Given the description of an element on the screen output the (x, y) to click on. 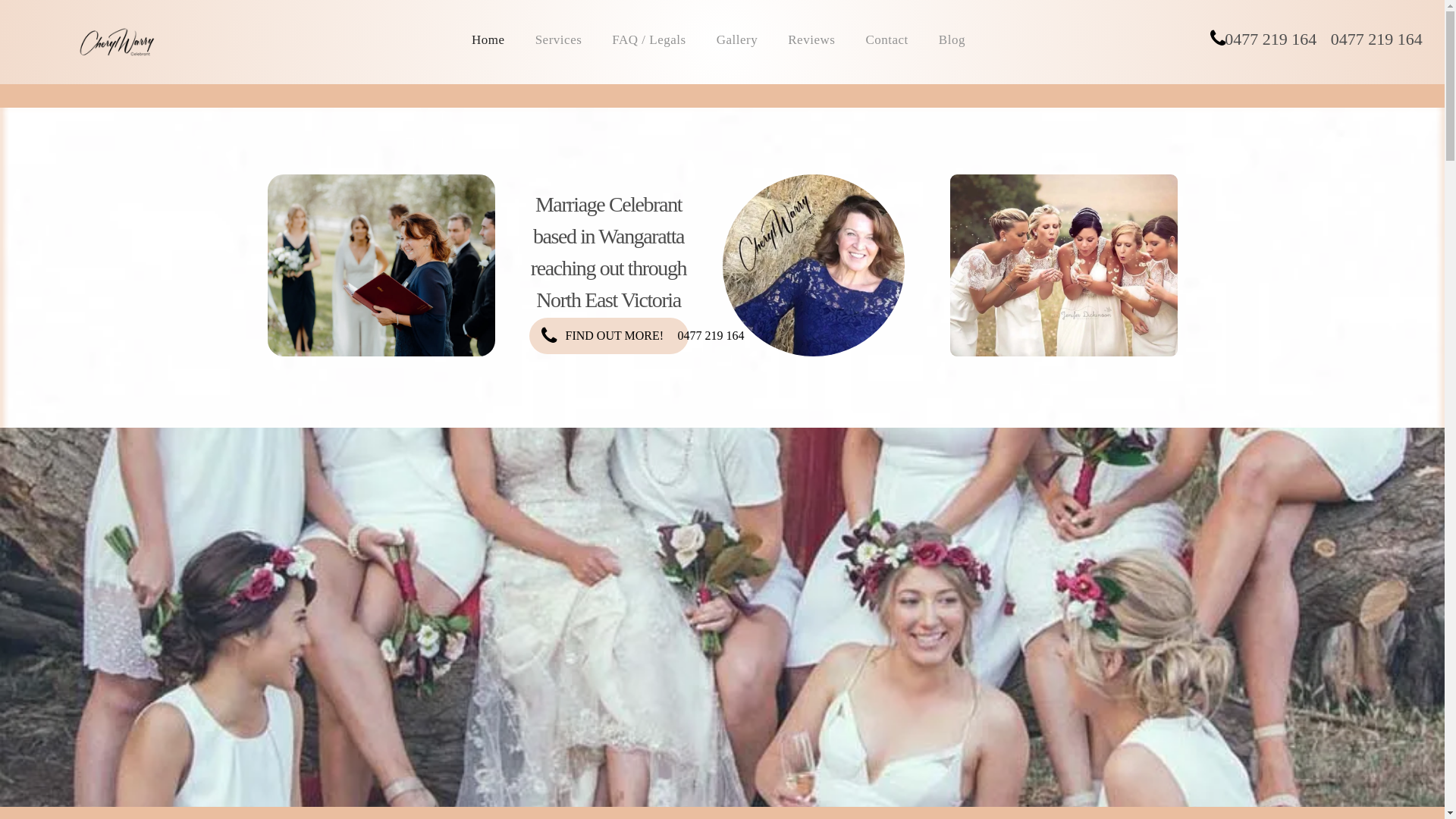
Services Element type: text (558, 40)
FIND OUT MORE! 0477 219 164 Element type: text (608, 335)
0477 219 164 0477 219 164 Element type: text (1317, 38)
Reviews Element type: text (811, 40)
Home Element type: text (488, 40)
FAQ / Legals Element type: text (648, 40)
Contact Element type: text (886, 40)
Gallery Element type: text (737, 40)
Blog Element type: text (951, 40)
